Given the description of an element on the screen output the (x, y) to click on. 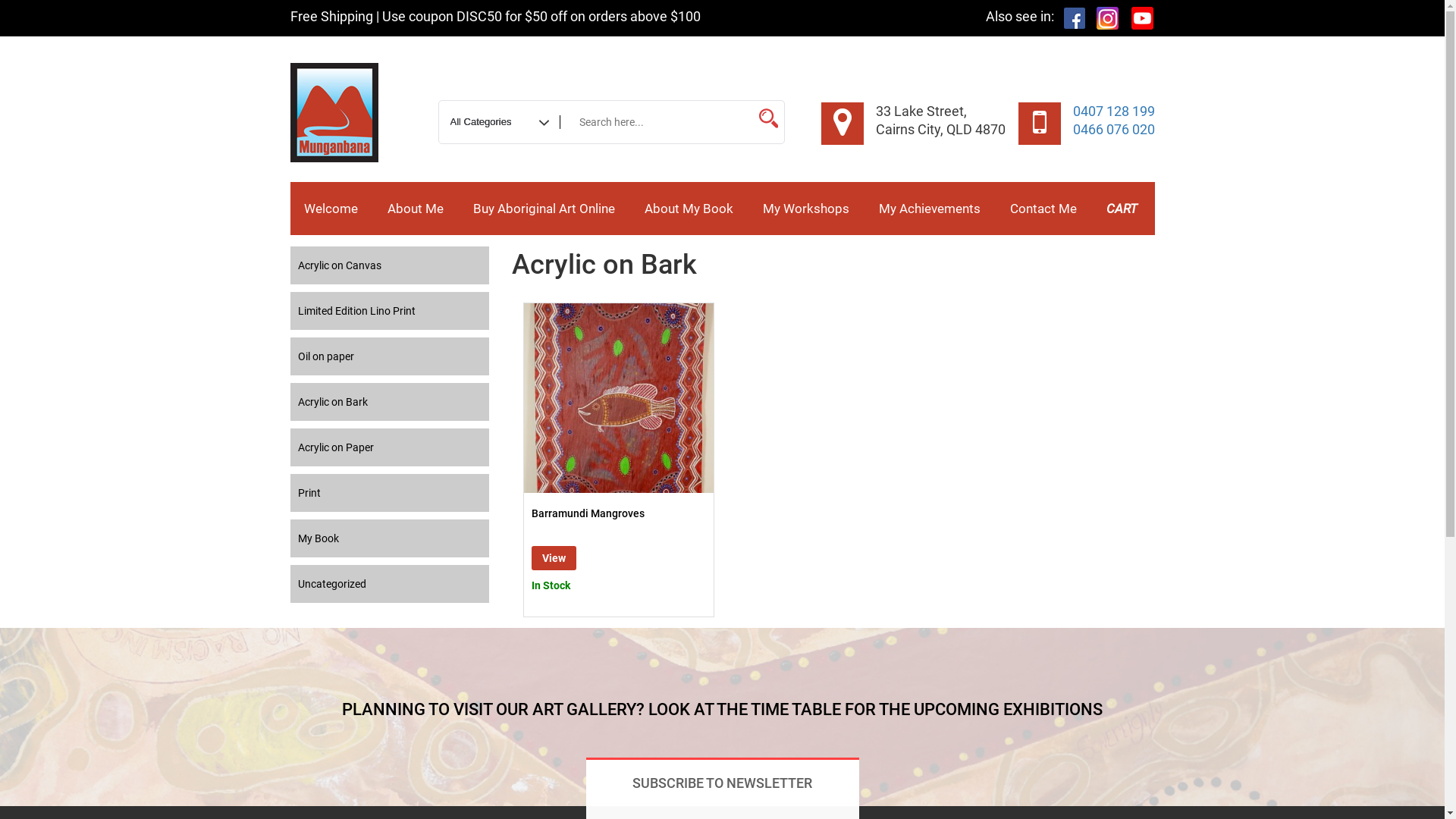
View Element type: text (553, 557)
Acrylic on Bark Element type: text (389, 401)
Barramundi Mangroves Element type: text (618, 513)
Acrylic on Paper Element type: text (389, 447)
About My Book Element type: text (688, 208)
0407 128 199 Element type: text (1113, 111)
Print Element type: text (389, 492)
My Achievements Element type: text (928, 208)
0466 076 020 Element type: text (1113, 129)
CART Element type: text (1121, 208)
Buy Aboriginal Art Online Element type: text (543, 208)
My Workshops Element type: text (805, 208)
Oil on paper Element type: text (389, 356)
Acrylic on Canvas Element type: text (389, 265)
Welcome Element type: text (329, 208)
Uncategorized Element type: text (389, 583)
Limited Edition Lino Print Element type: text (389, 310)
Contact Me Element type: text (1043, 208)
My Book Element type: text (389, 538)
About Me Element type: text (414, 208)
